Given the description of an element on the screen output the (x, y) to click on. 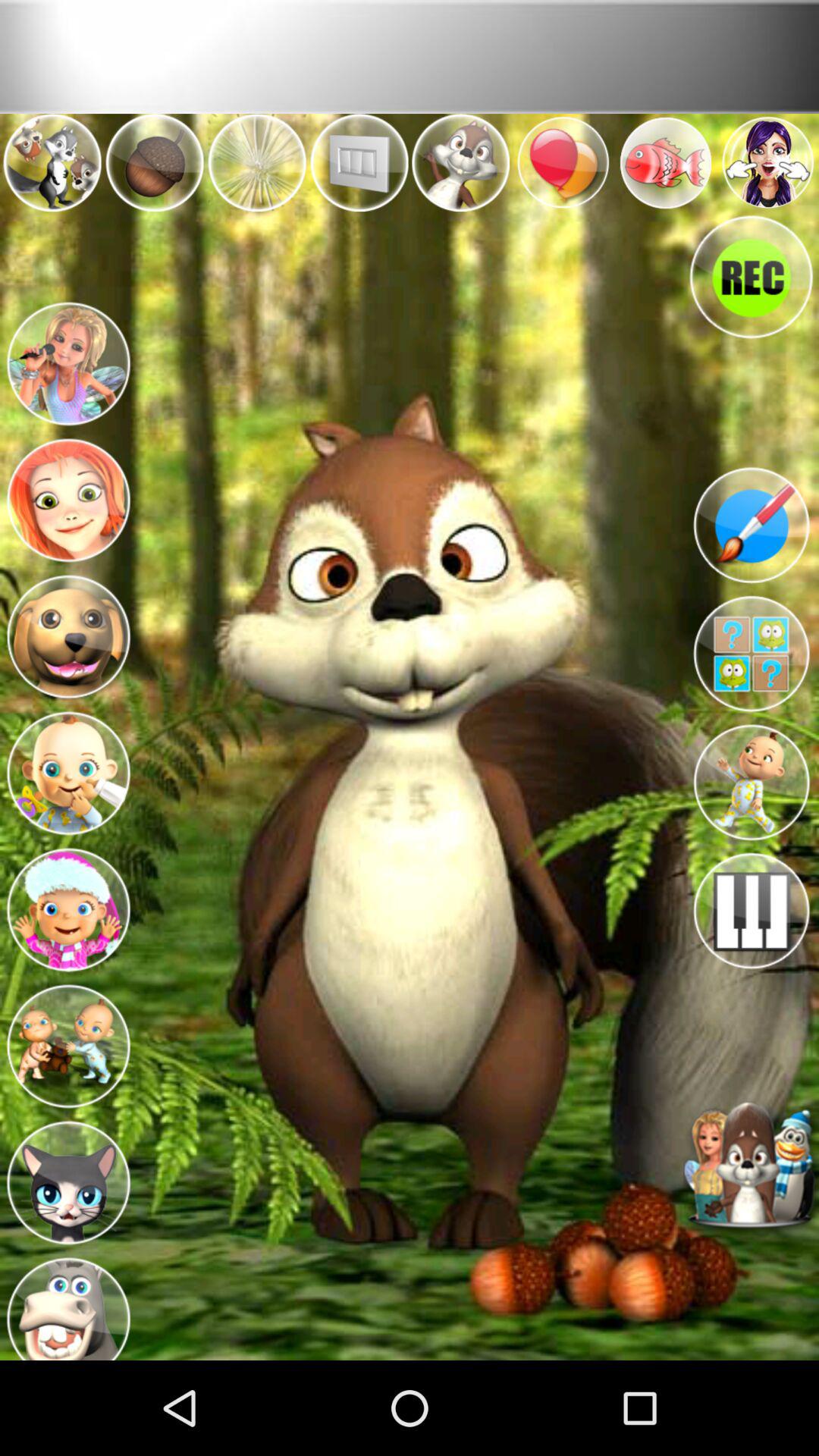
change to hippo (68, 1303)
